Given the description of an element on the screen output the (x, y) to click on. 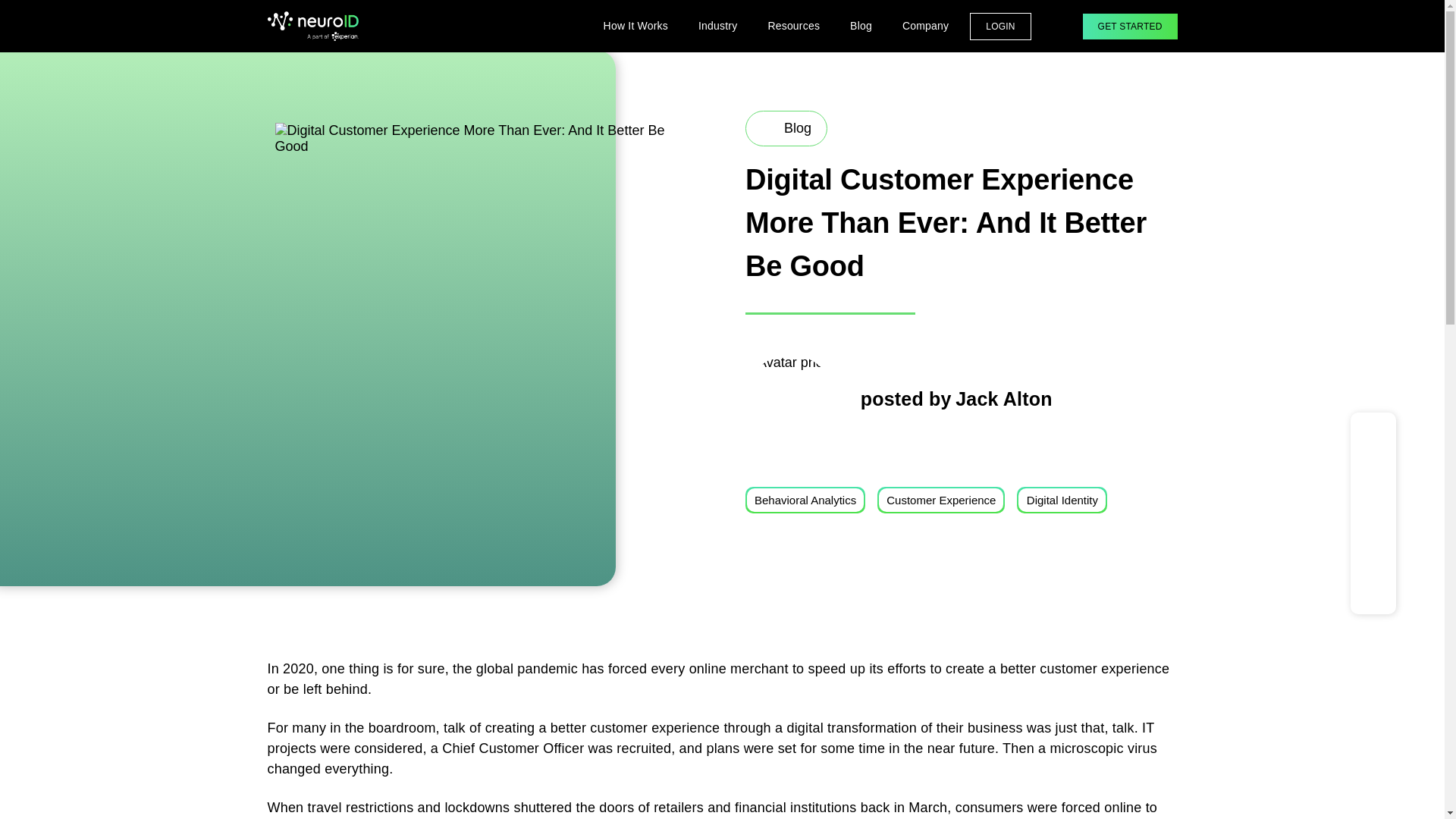
Industry (716, 26)
More (1373, 455)
Twitter (1373, 555)
Company (925, 26)
Digital Identity (1061, 499)
Search (1056, 26)
Email (1373, 588)
Behavioral Analytics (804, 499)
GET STARTED (1130, 26)
Search (288, 19)
